Given the description of an element on the screen output the (x, y) to click on. 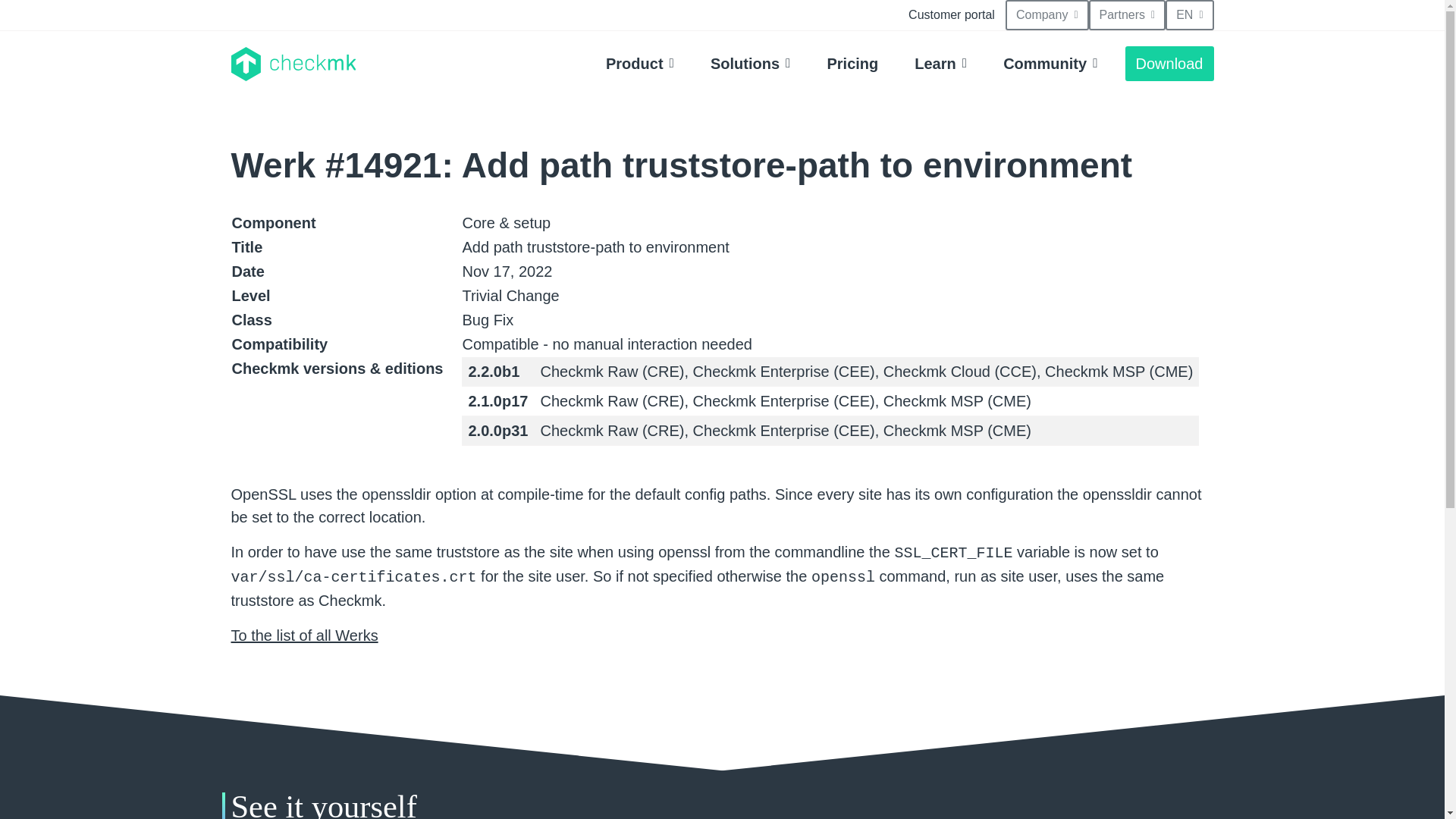
Checkmk (292, 63)
Customer portal (952, 15)
Partners (1127, 15)
Solutions (750, 63)
Company (1047, 15)
EN (1189, 15)
Product (639, 63)
